Given the description of an element on the screen output the (x, y) to click on. 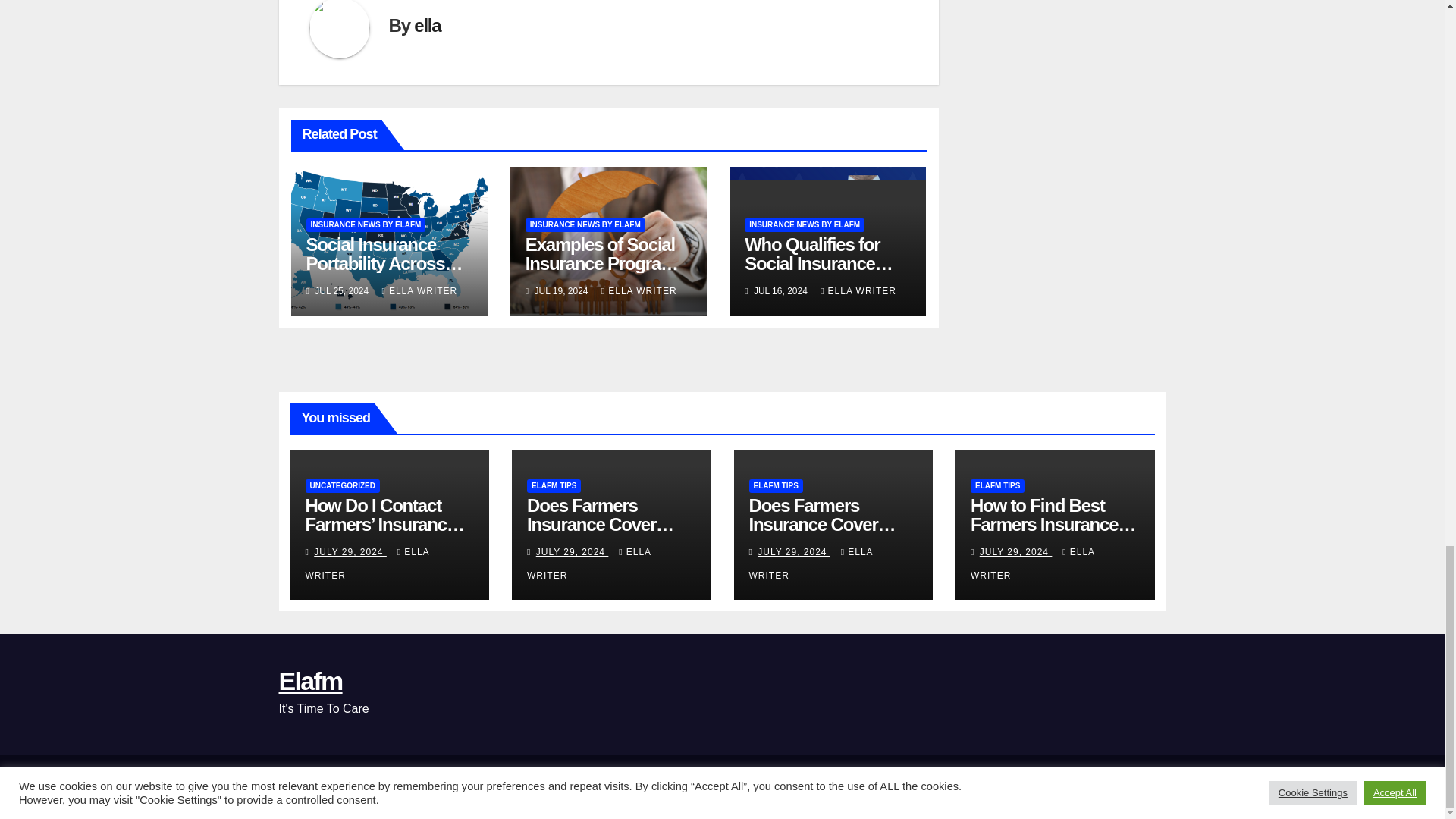
ELLA WRITER (858, 290)
Home (808, 786)
ELLA WRITER (419, 290)
INSURANCE NEWS BY ELAFM (804, 224)
Examples of Social Insurance Programs You Should Know About (605, 273)
Permalink to: Does Farmers Insurance Cover Florida? (822, 524)
INSURANCE NEWS BY ELAFM (585, 224)
ELLA WRITER (639, 290)
ella (427, 25)
